Given the description of an element on the screen output the (x, y) to click on. 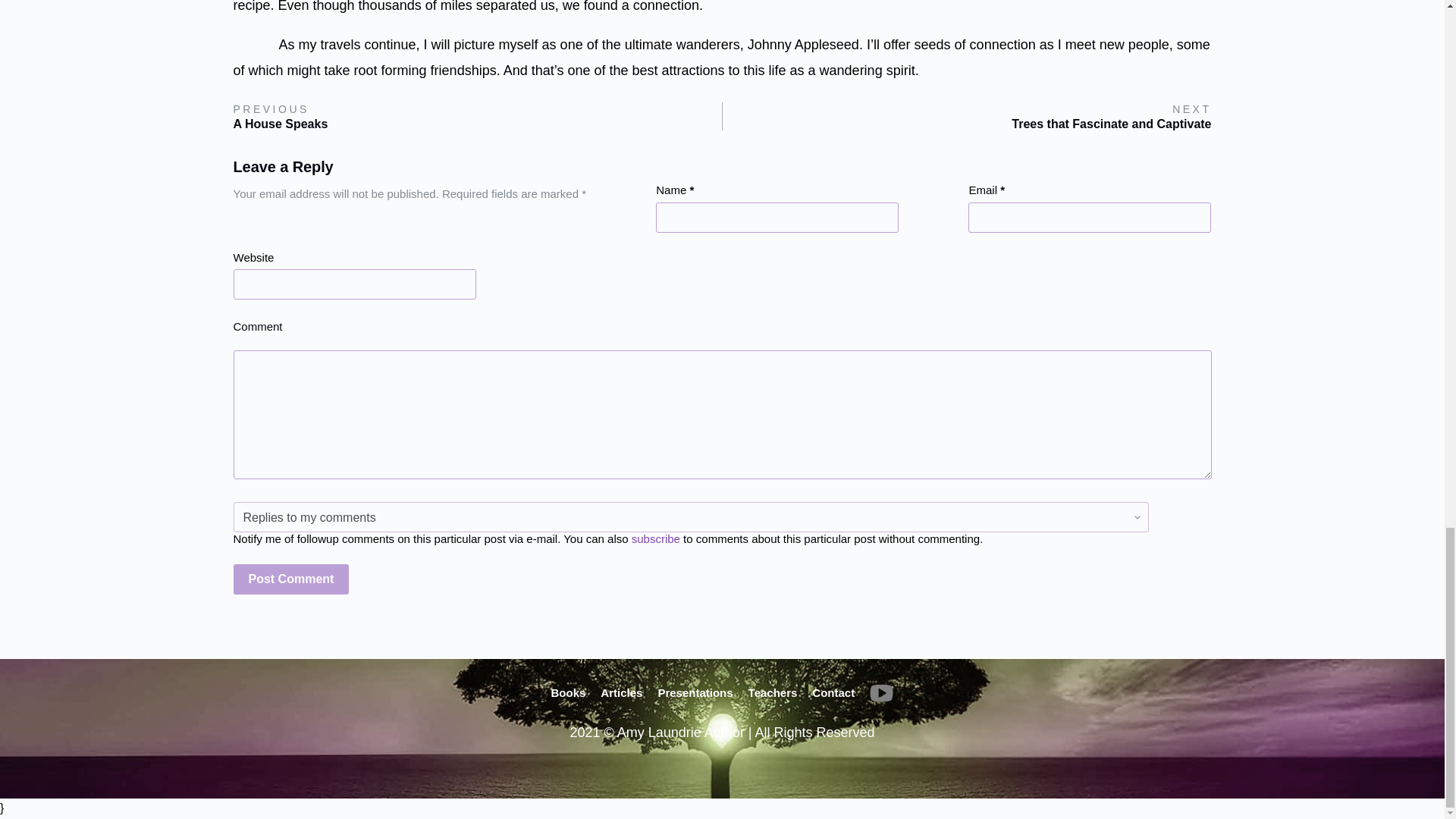
Post Comment (290, 579)
A House Speaks (280, 124)
Trees that Fascinate and Captivate (1111, 124)
Articles (621, 692)
Books (568, 692)
subscribe (655, 538)
